Given the description of an element on the screen output the (x, y) to click on. 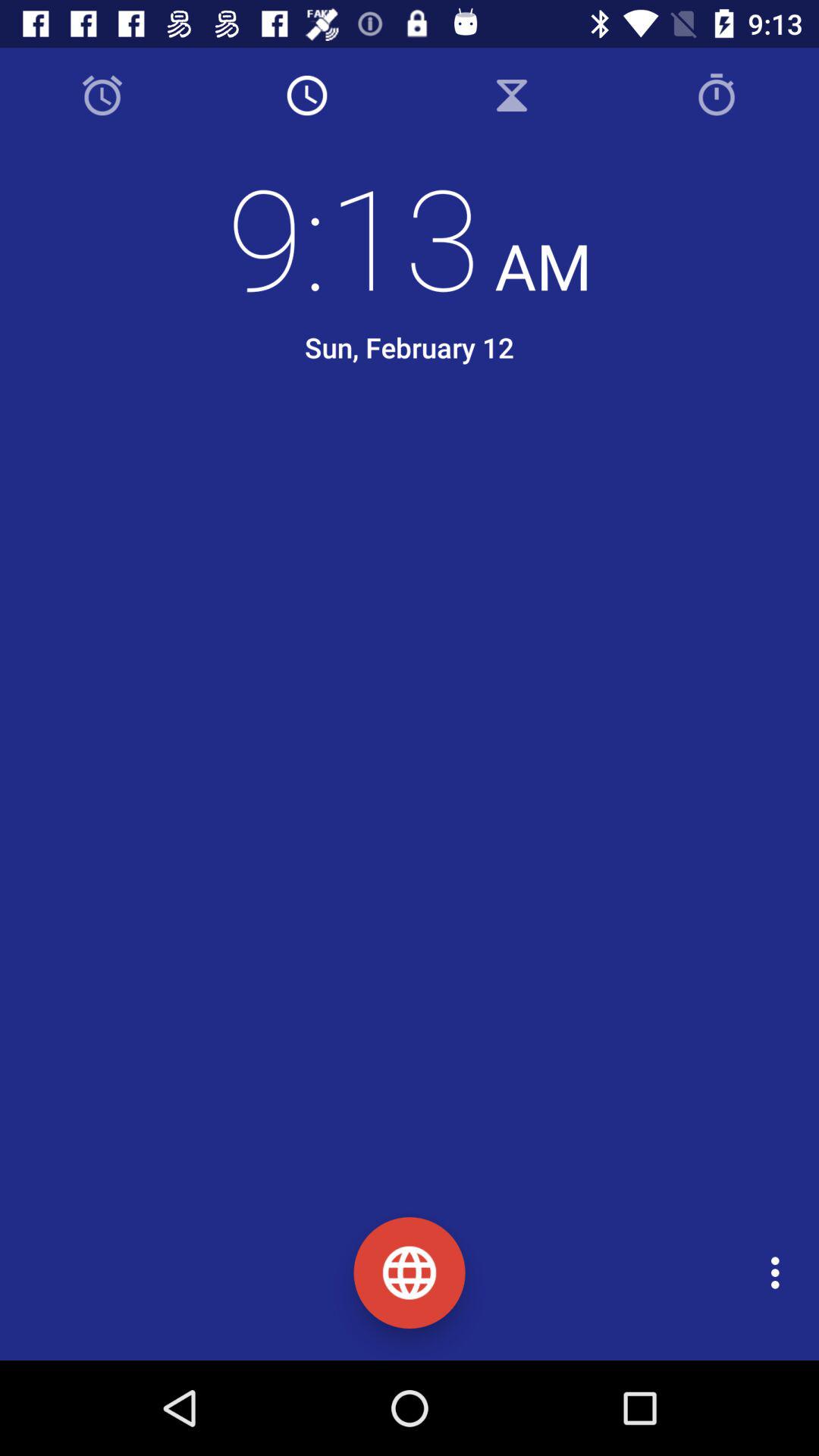
open the icon at the bottom right corner (779, 1272)
